Given the description of an element on the screen output the (x, y) to click on. 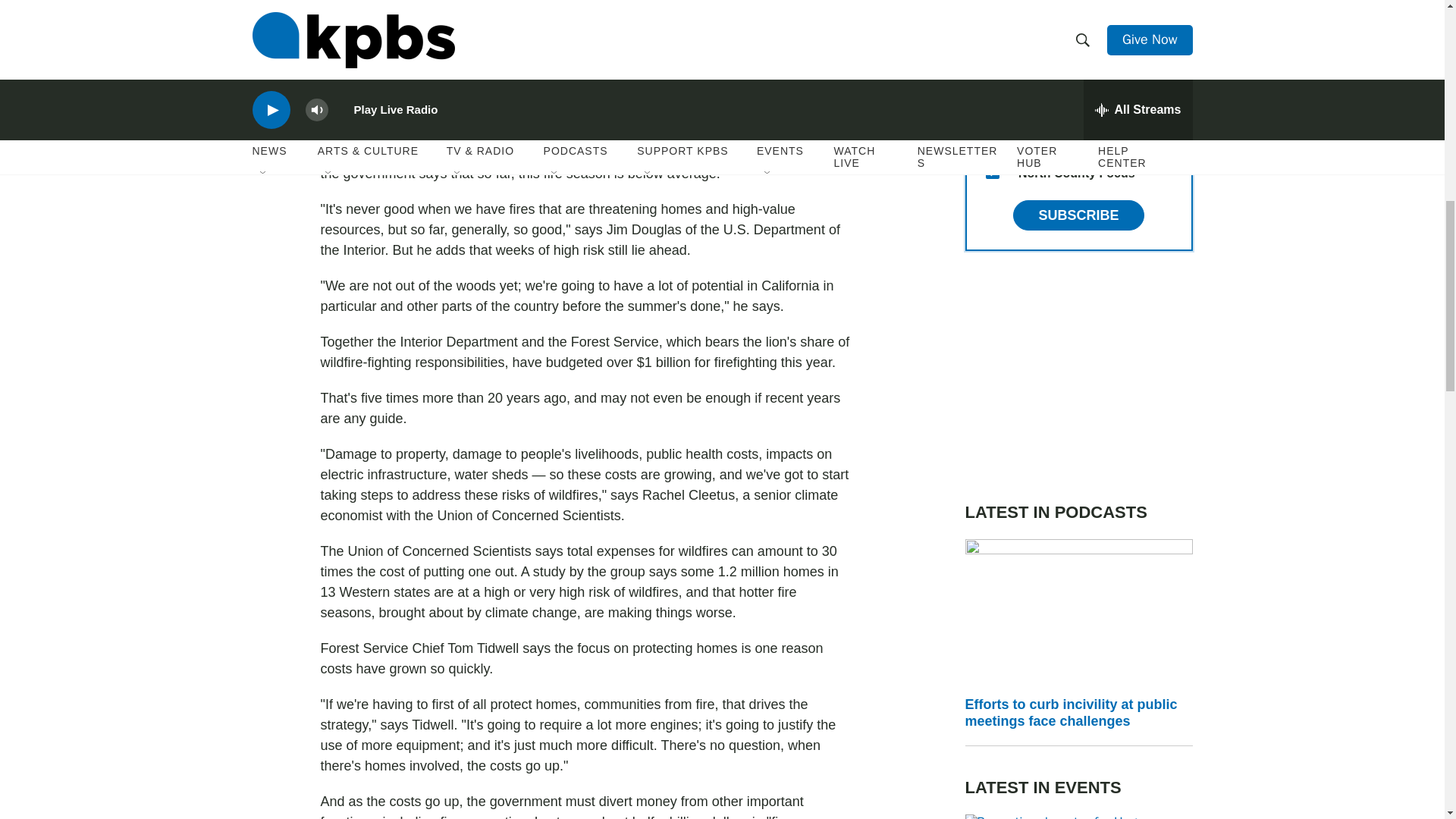
1 (991, 99)
2 (991, 62)
8 (991, 135)
6 (991, 26)
15 (991, 172)
